Given the description of an element on the screen output the (x, y) to click on. 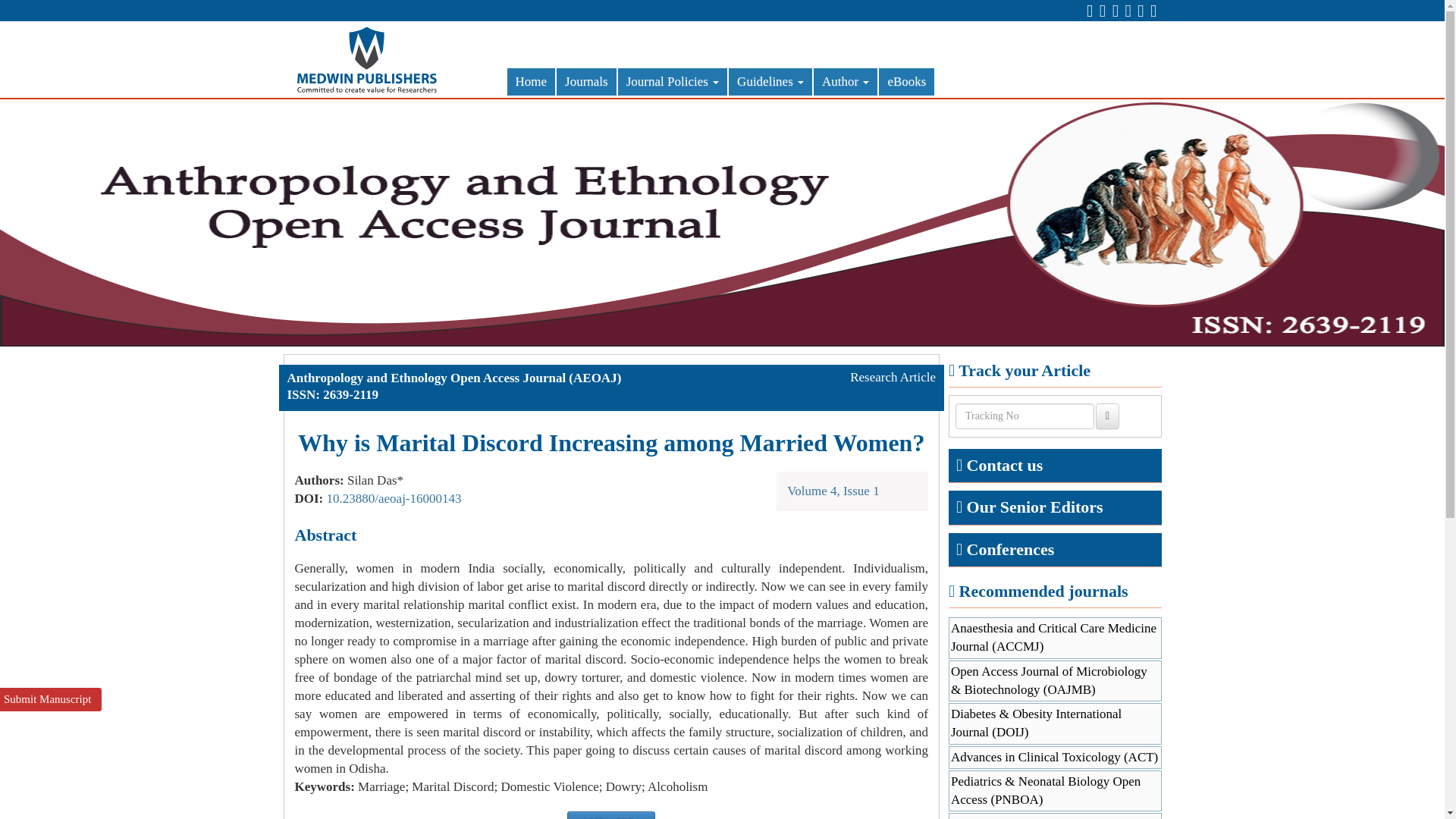
Journal Policies (671, 81)
Services (1127, 10)
Journals (585, 81)
Click here to view Editors (1004, 465)
Contact (1153, 10)
Linkedin (1115, 10)
Facebook (1089, 10)
Guidelines (770, 81)
Click here to view Editors (1034, 506)
Author (845, 81)
Click here to view Conferences (1010, 548)
Home (530, 81)
Twitter (1102, 10)
FAQS (1139, 10)
